Given the description of an element on the screen output the (x, y) to click on. 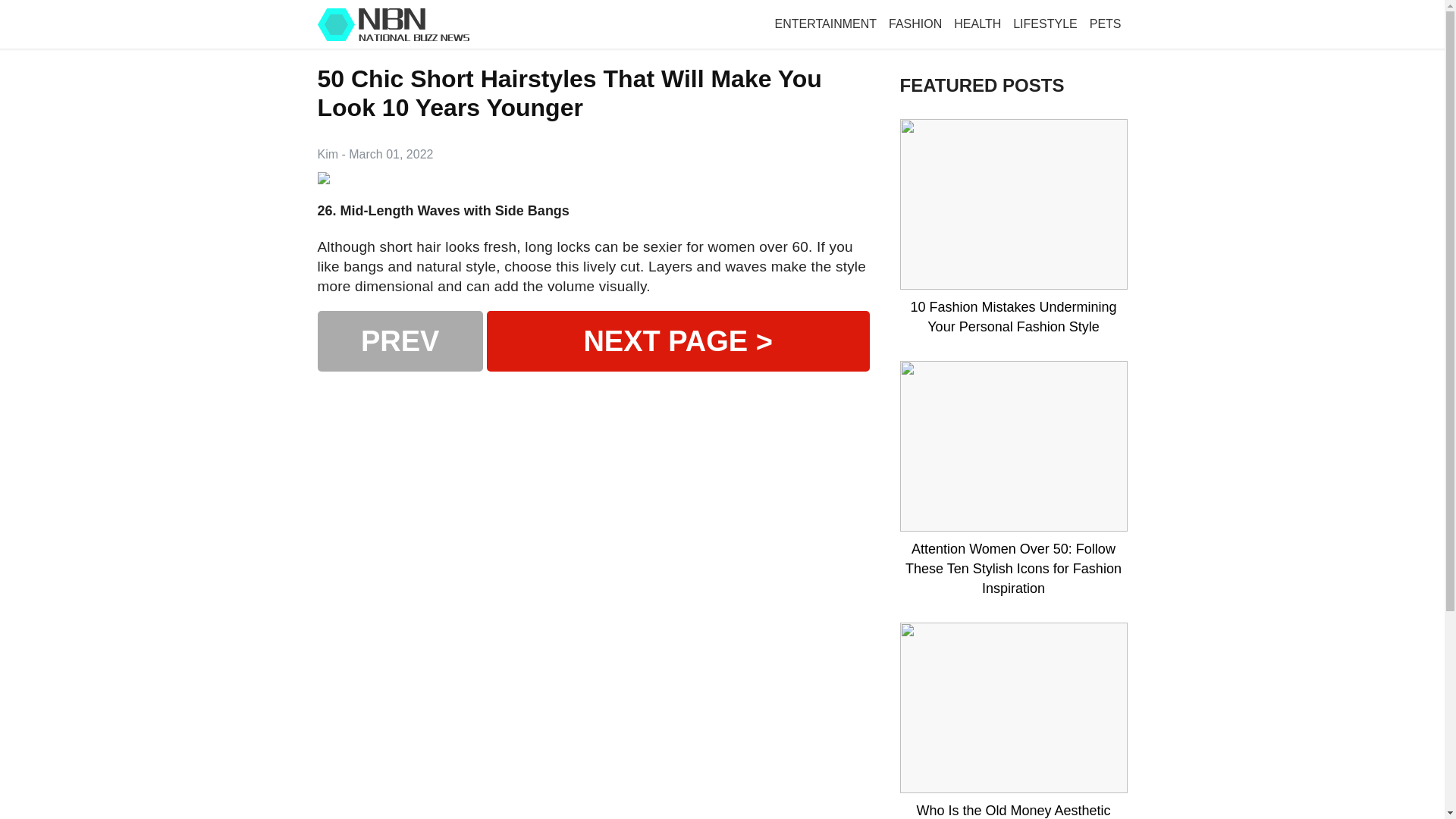
PREV (399, 341)
10 Fashion Mistakes Undermining Your Personal Fashion Style (1012, 316)
Who Is the Old Money Aesthetic Suited For? (1012, 809)
ENTERTAINMENT (825, 24)
FASHION (914, 24)
LIFESTYLE (1045, 24)
HEALTH (977, 24)
PETS (1104, 24)
